Given the description of an element on the screen output the (x, y) to click on. 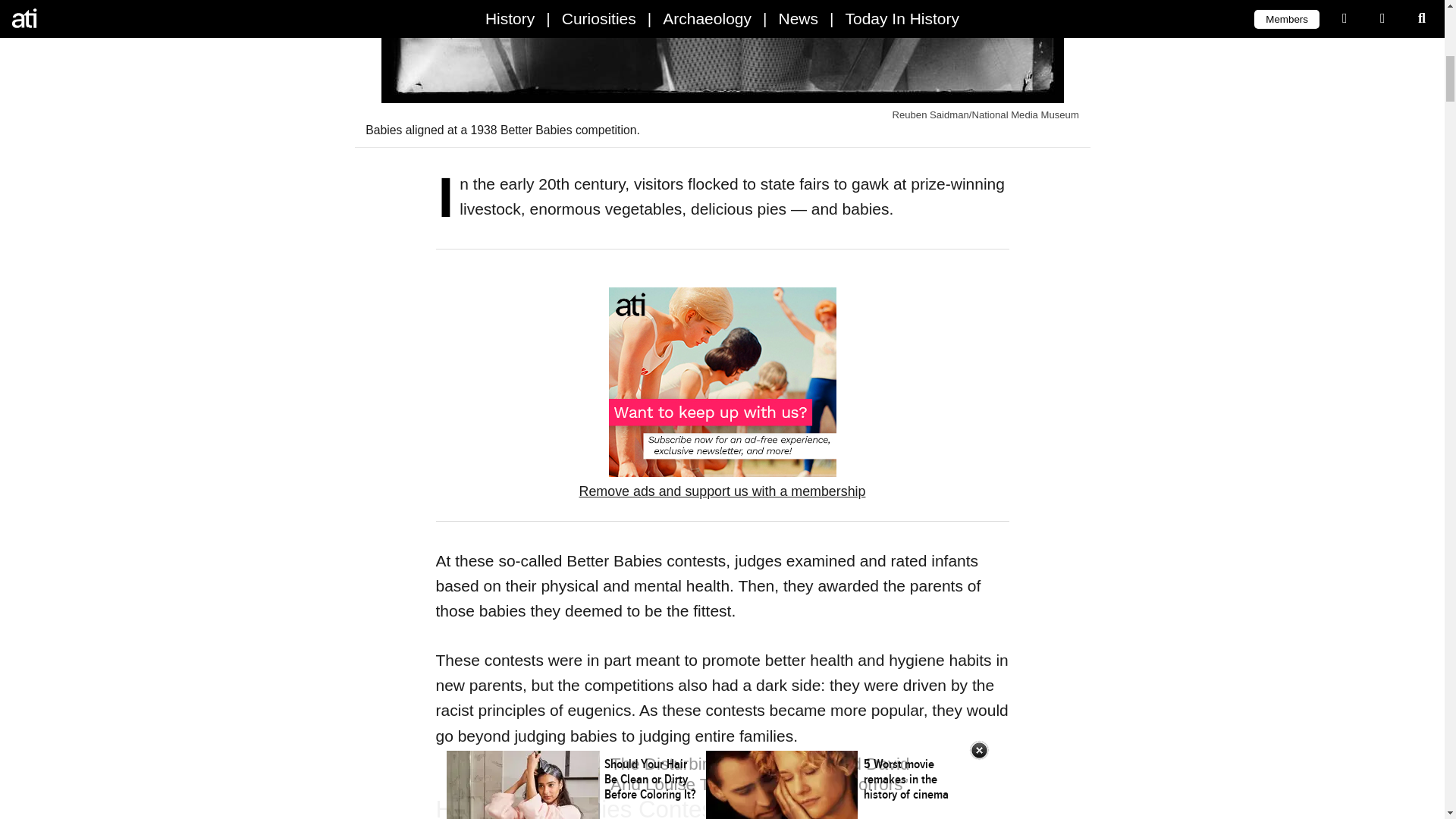
Remove ads and support us with a membership (722, 491)
